Given the description of an element on the screen output the (x, y) to click on. 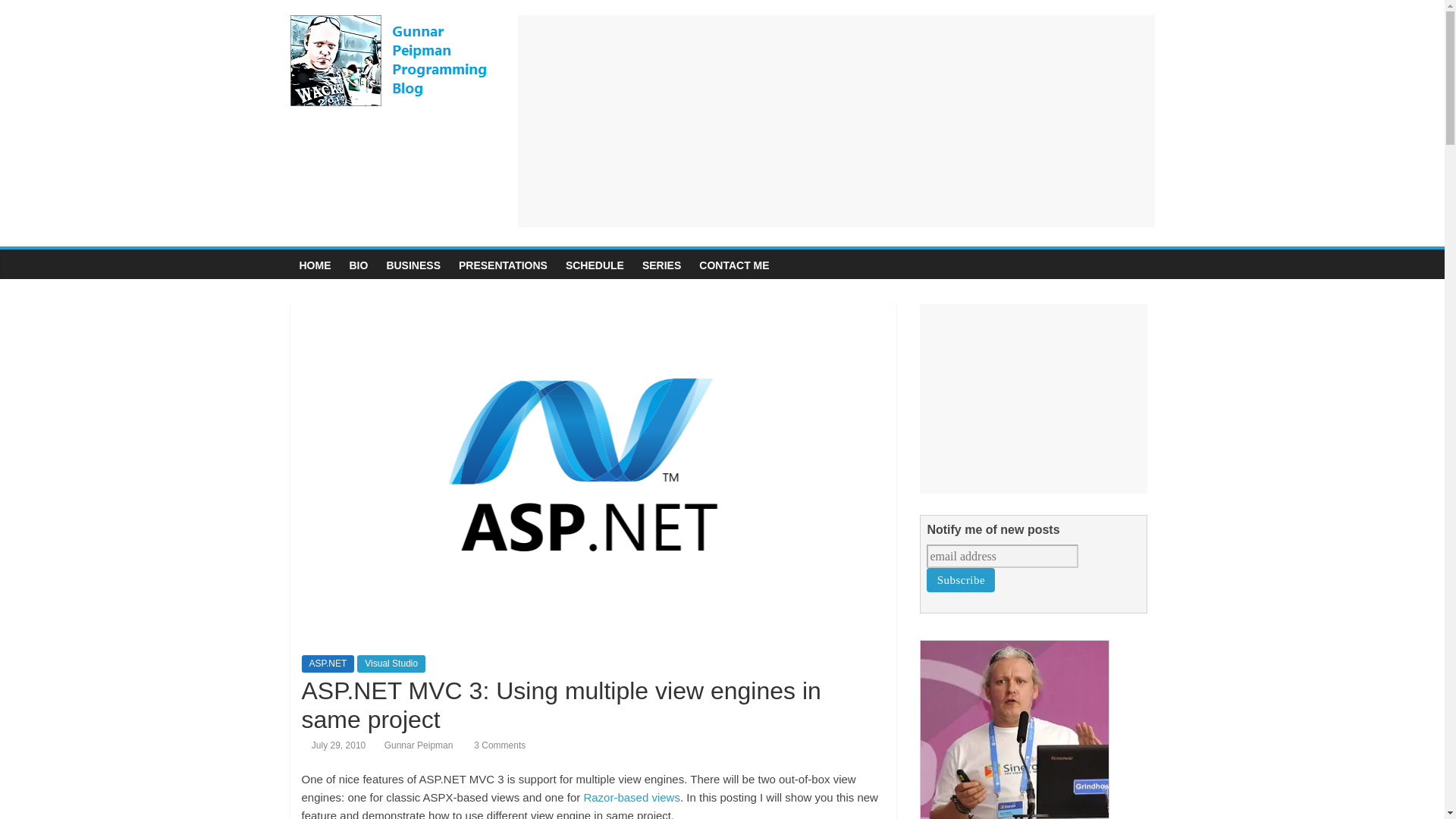
Visual Studio (390, 663)
Razor-based views (631, 797)
ASP.NET (328, 663)
July 29, 2010 (333, 745)
BUSINESS (413, 265)
Gunnar Peipman (418, 745)
3 Comments (494, 745)
BIO (358, 265)
SERIES (661, 265)
